Given the description of an element on the screen output the (x, y) to click on. 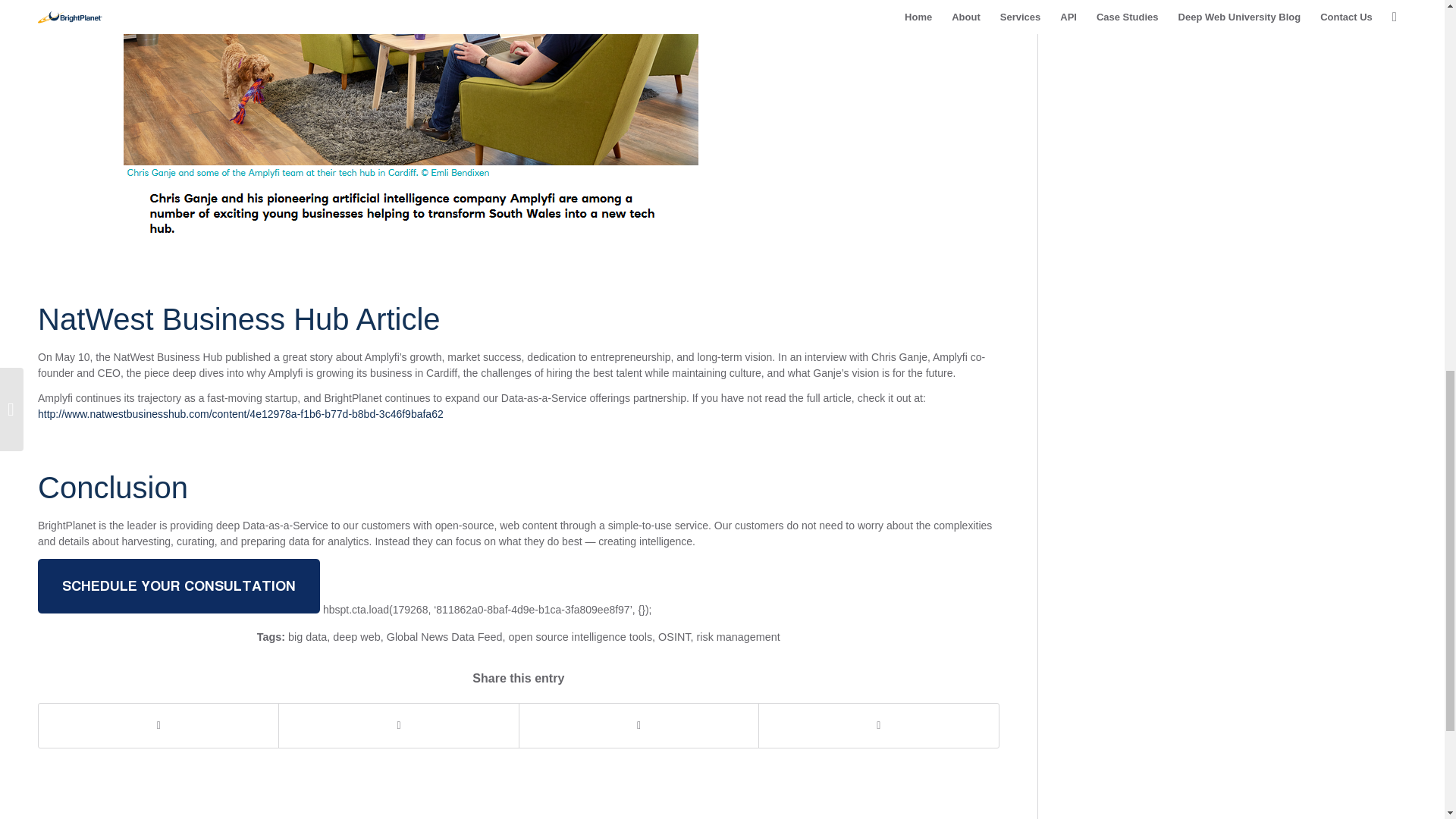
deep web (356, 636)
OSINT (674, 636)
big data (307, 636)
open source intelligence tools (580, 636)
Global News Data Feed (444, 636)
risk management (736, 636)
